Given the description of an element on the screen output the (x, y) to click on. 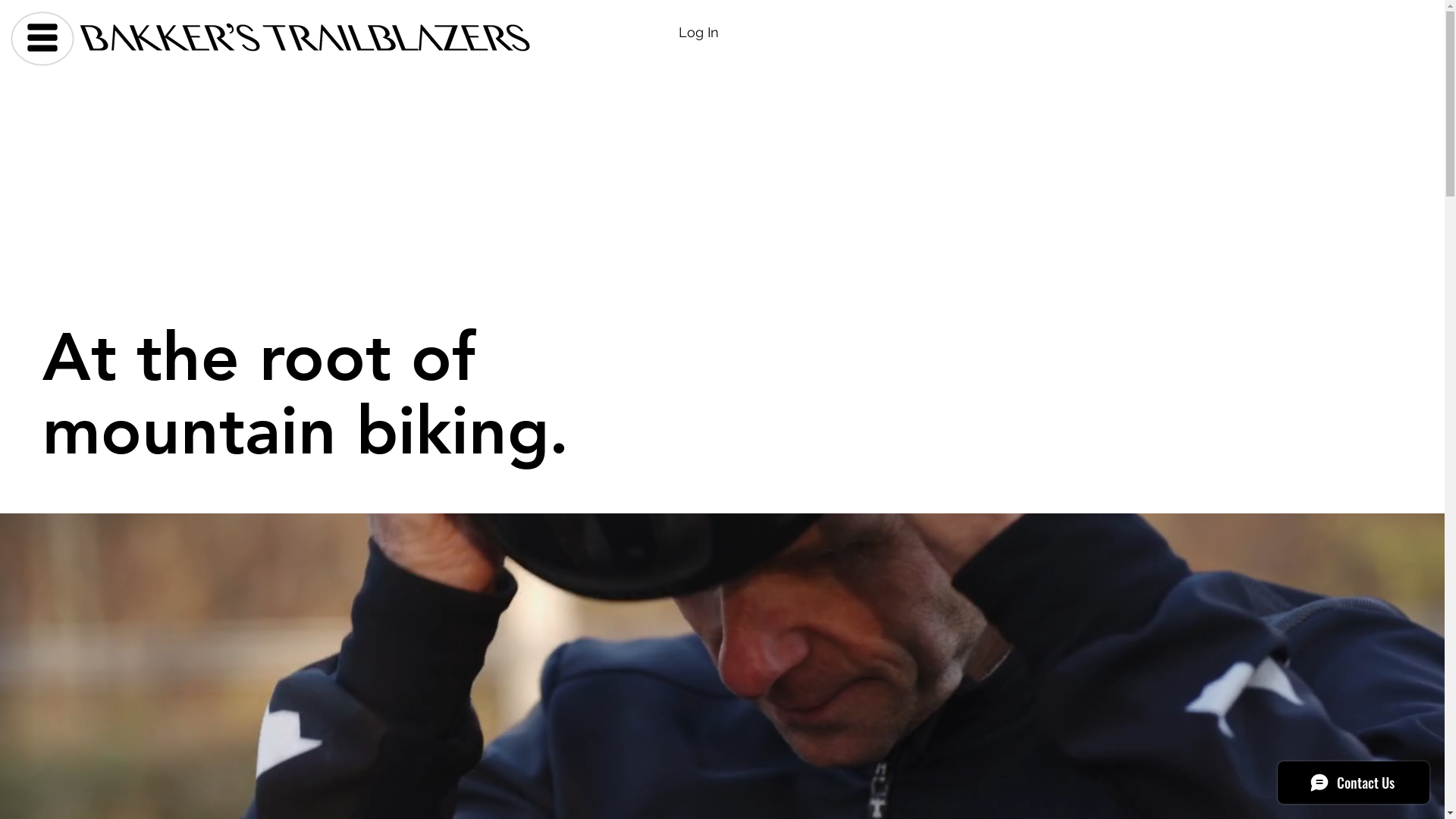
Log In Element type: text (698, 32)
